Given the description of an element on the screen output the (x, y) to click on. 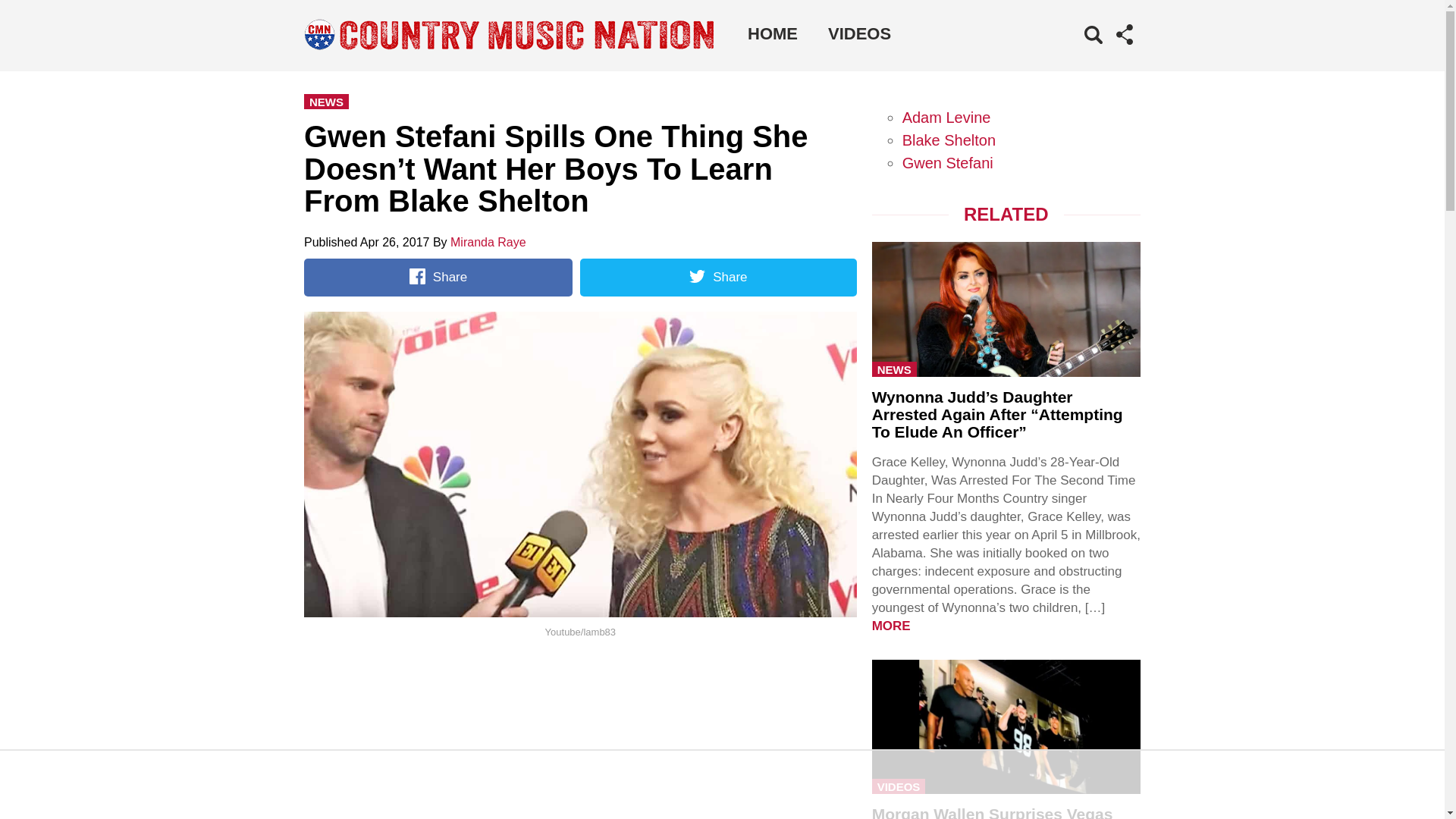
Home (772, 33)
Search (1071, 57)
Search (1071, 57)
VIDEOS (858, 33)
Adam Levine (946, 117)
Share (438, 277)
NEWS (326, 101)
HOME (772, 33)
morgan-mike-tom (1006, 725)
Miranda Raye (487, 241)
